Given the description of an element on the screen output the (x, y) to click on. 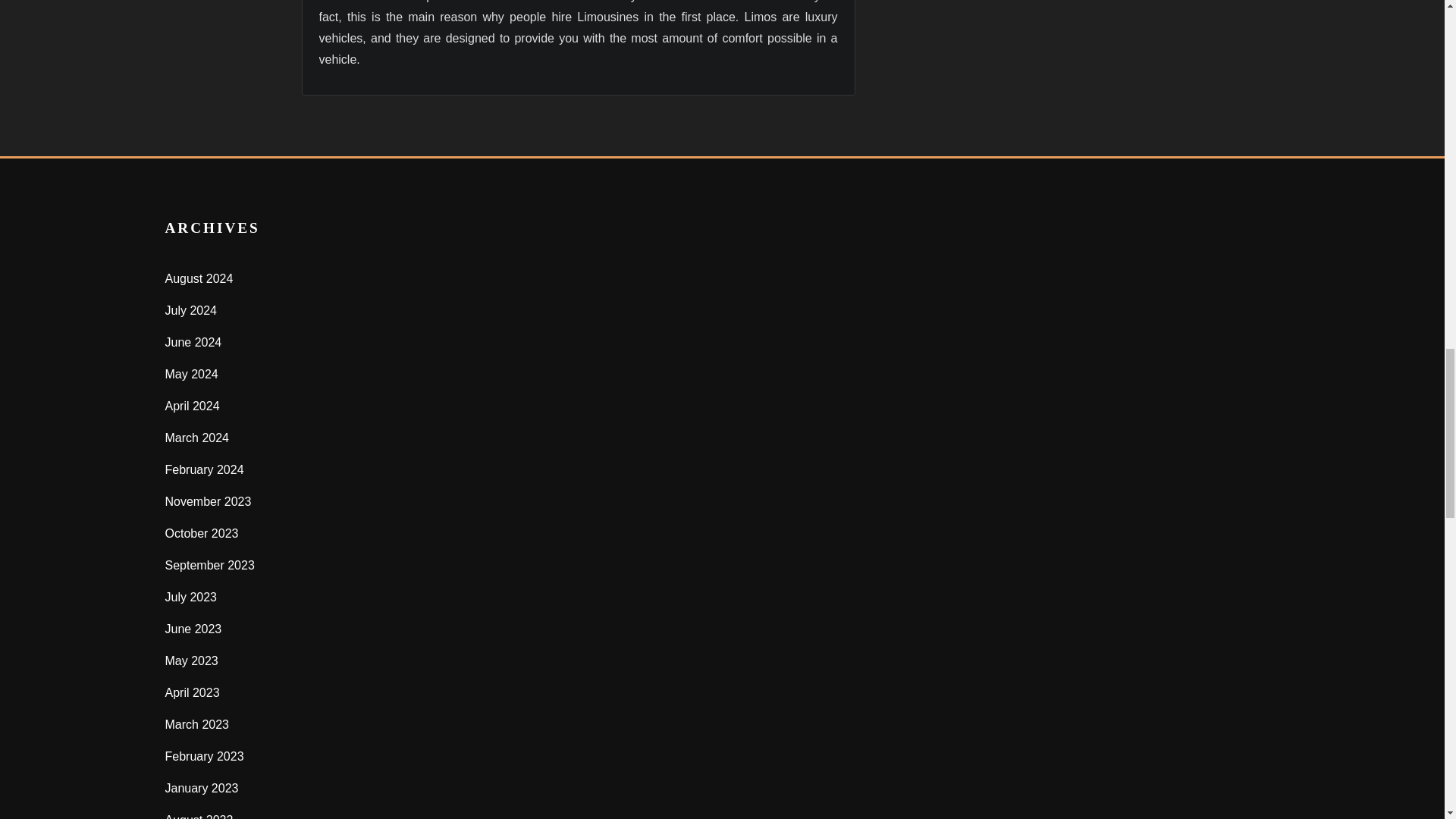
September 2023 (209, 564)
June 2024 (193, 341)
June 2023 (193, 628)
October 2023 (201, 533)
August 2024 (198, 278)
January 2023 (201, 788)
May 2024 (191, 373)
February 2024 (204, 469)
March 2023 (197, 724)
May 2023 (191, 660)
